Given the description of an element on the screen output the (x, y) to click on. 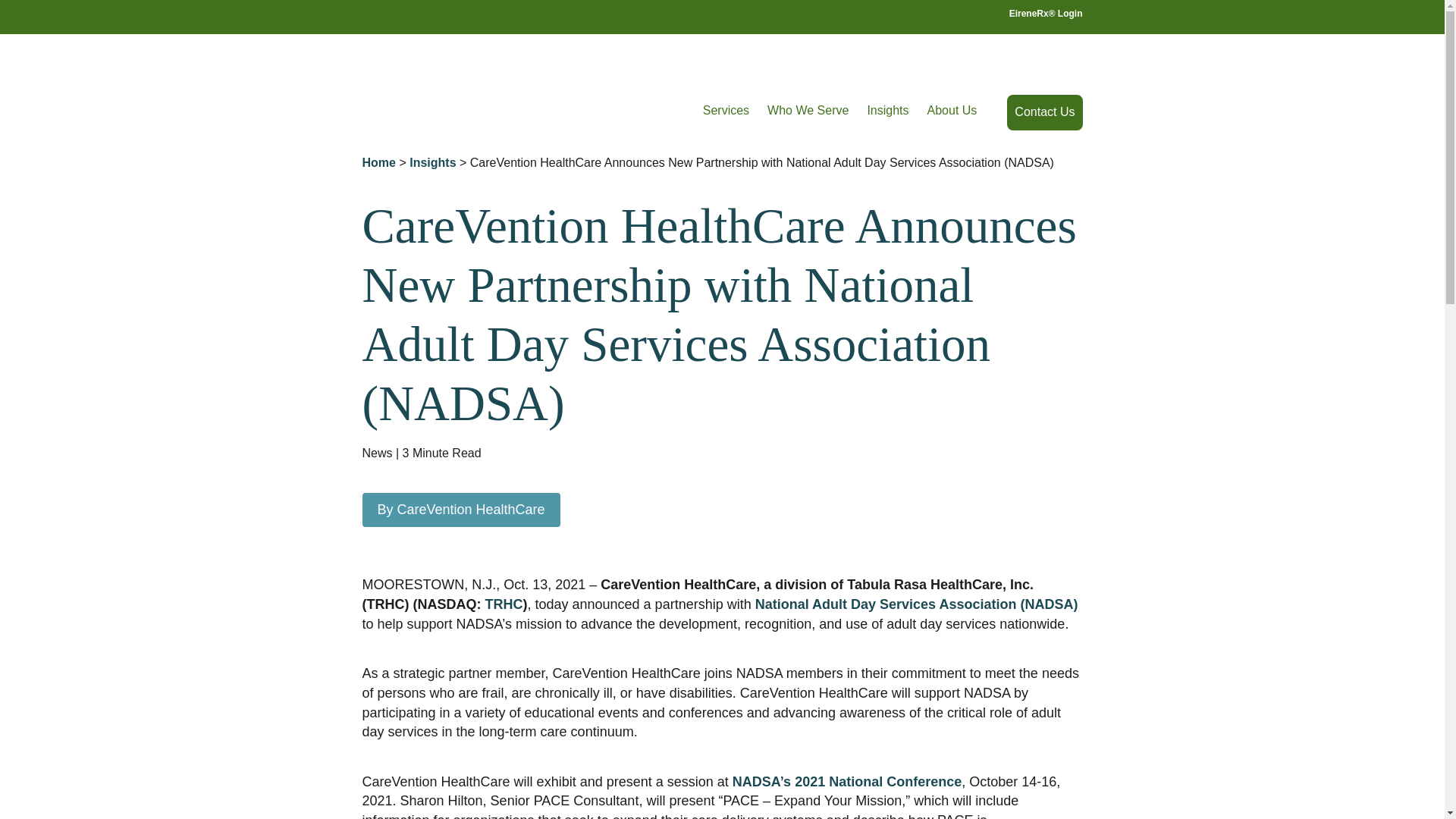
Who We Serve (807, 111)
Insights (887, 111)
Contact Us (1044, 112)
Services (726, 111)
TRHC (503, 604)
About Us (952, 111)
Insights (432, 162)
Home (379, 162)
